Given the description of an element on the screen output the (x, y) to click on. 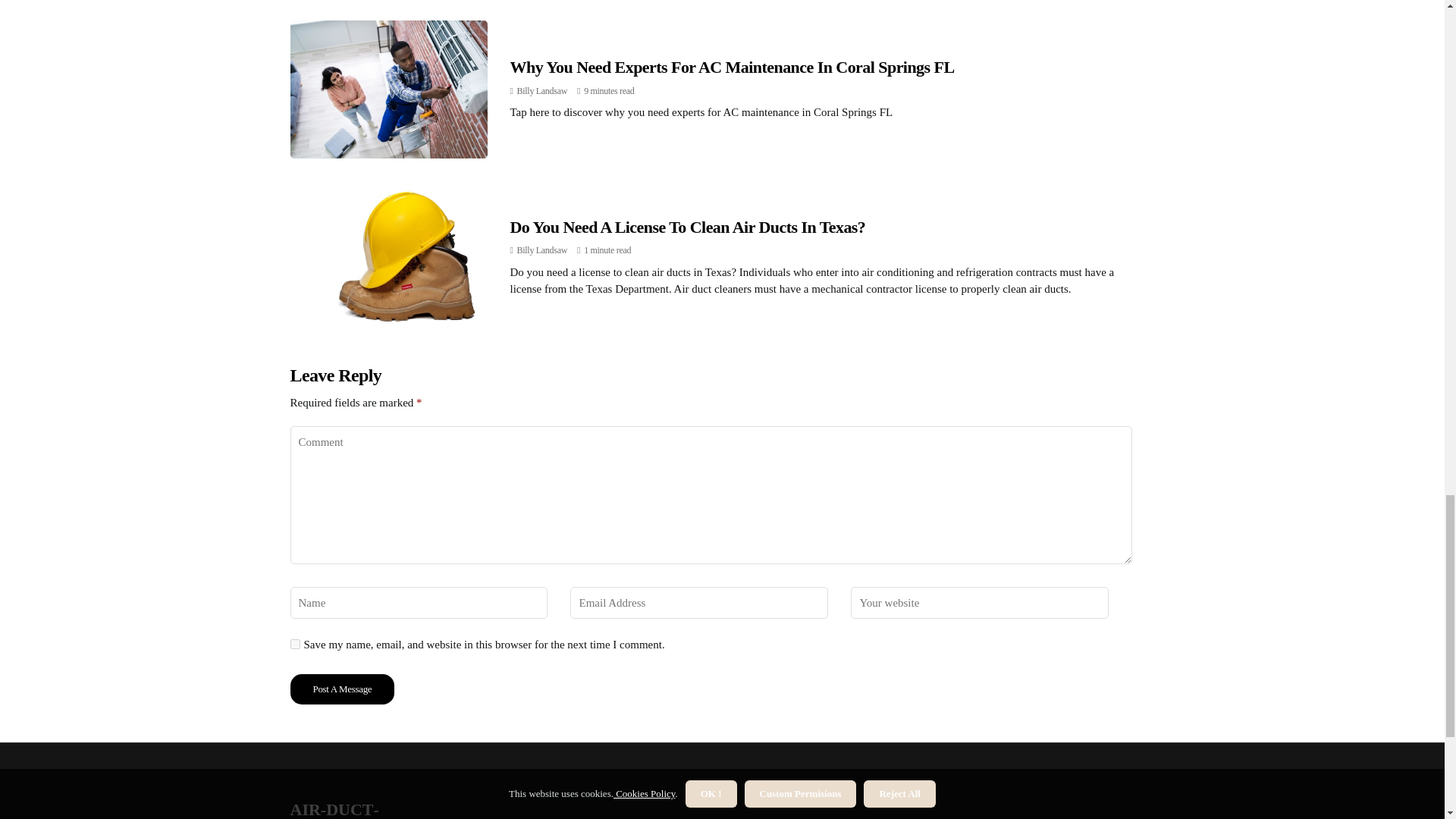
yes (294, 406)
Post a Message (341, 451)
Posts by Billy Landsaw (541, 41)
Billy Landsaw (541, 41)
Do You Need A License To Clean Air Ducts In Texas? (686, 18)
Post a Message (341, 451)
